Given the description of an element on the screen output the (x, y) to click on. 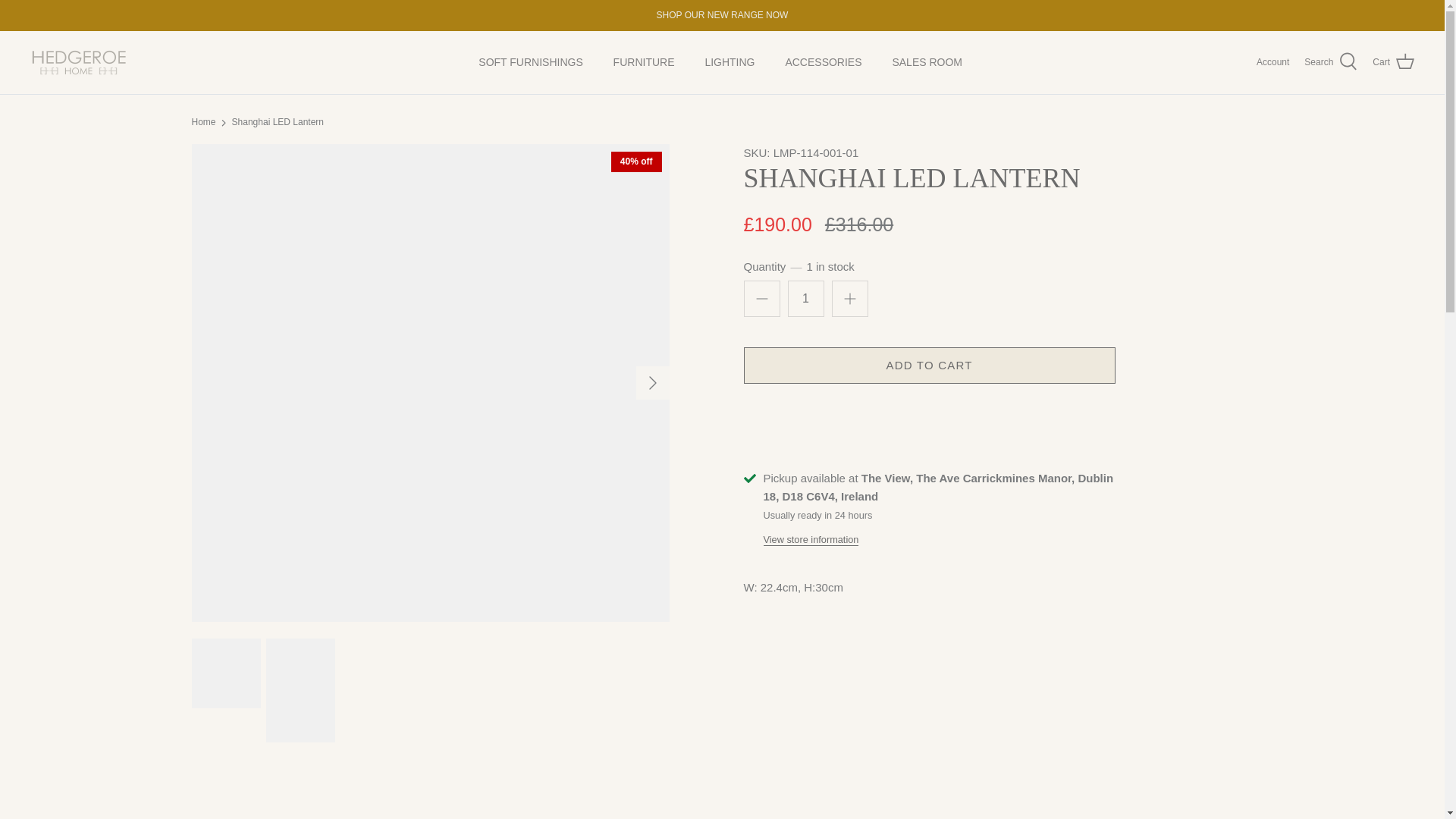
Cart (1393, 62)
LIGHTING (729, 61)
Hedgeroe Home (79, 61)
Account (1272, 62)
SHOP OUR NEW RANGE NOW (722, 15)
Plus (849, 298)
RIGHT (651, 382)
Minus (761, 298)
1 (805, 298)
FURNITURE (643, 61)
